Given the description of an element on the screen output the (x, y) to click on. 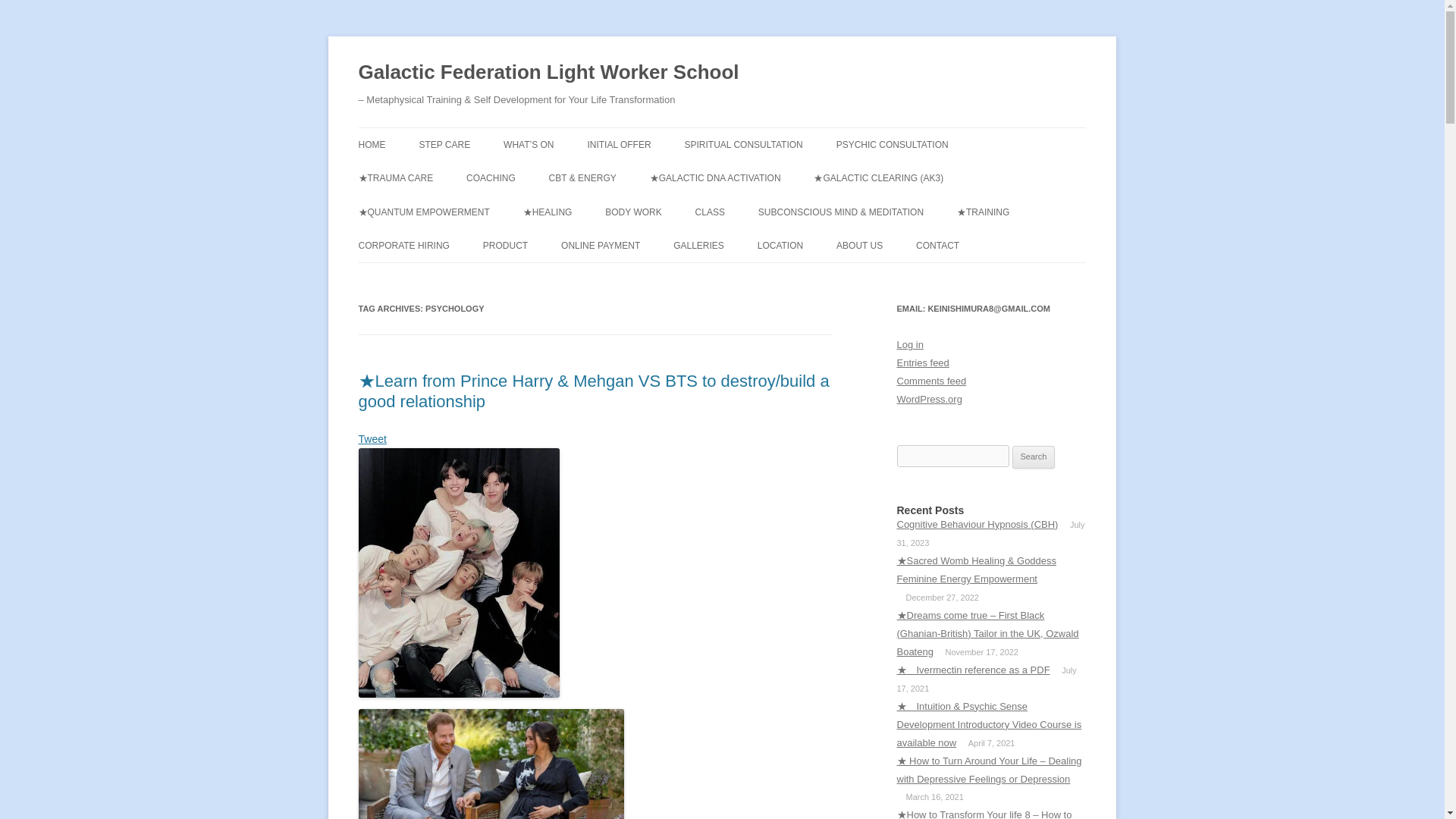
INITIAL OFFER (618, 144)
COACHING (490, 177)
Search (1033, 456)
PSYCHIC CONSULTATION (892, 144)
Galactic Federation Light Worker School (548, 72)
SPIRITUAL CONSULTATION (743, 144)
STEP CARE (444, 144)
